Given the description of an element on the screen output the (x, y) to click on. 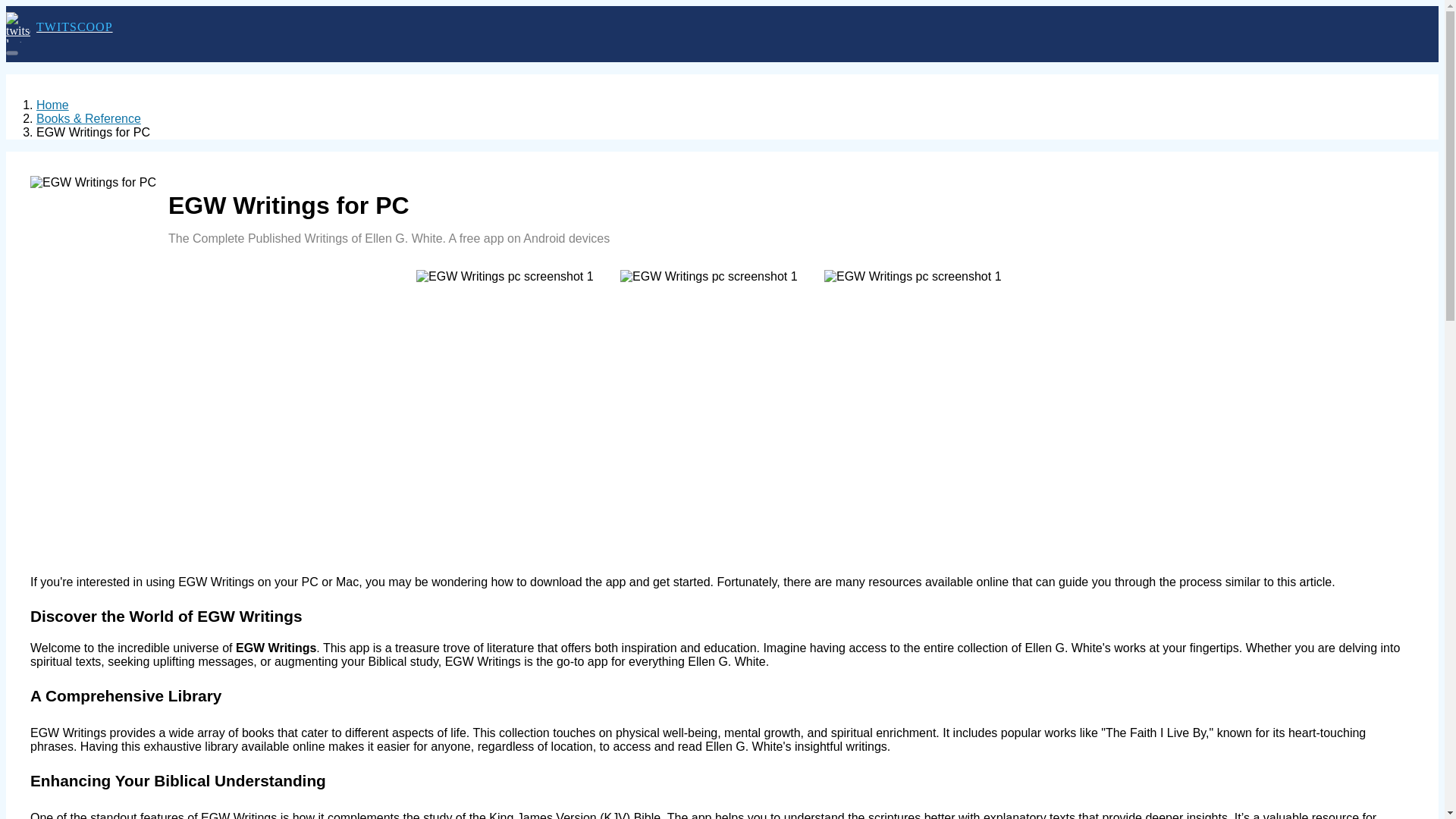
Home (52, 104)
EGW Writings pc screenshot 1 (505, 276)
EGW Writings (92, 182)
EGW Writings pc screenshot 1 (912, 276)
EGW Writings pc screenshot 1 (708, 276)
